Given the description of an element on the screen output the (x, y) to click on. 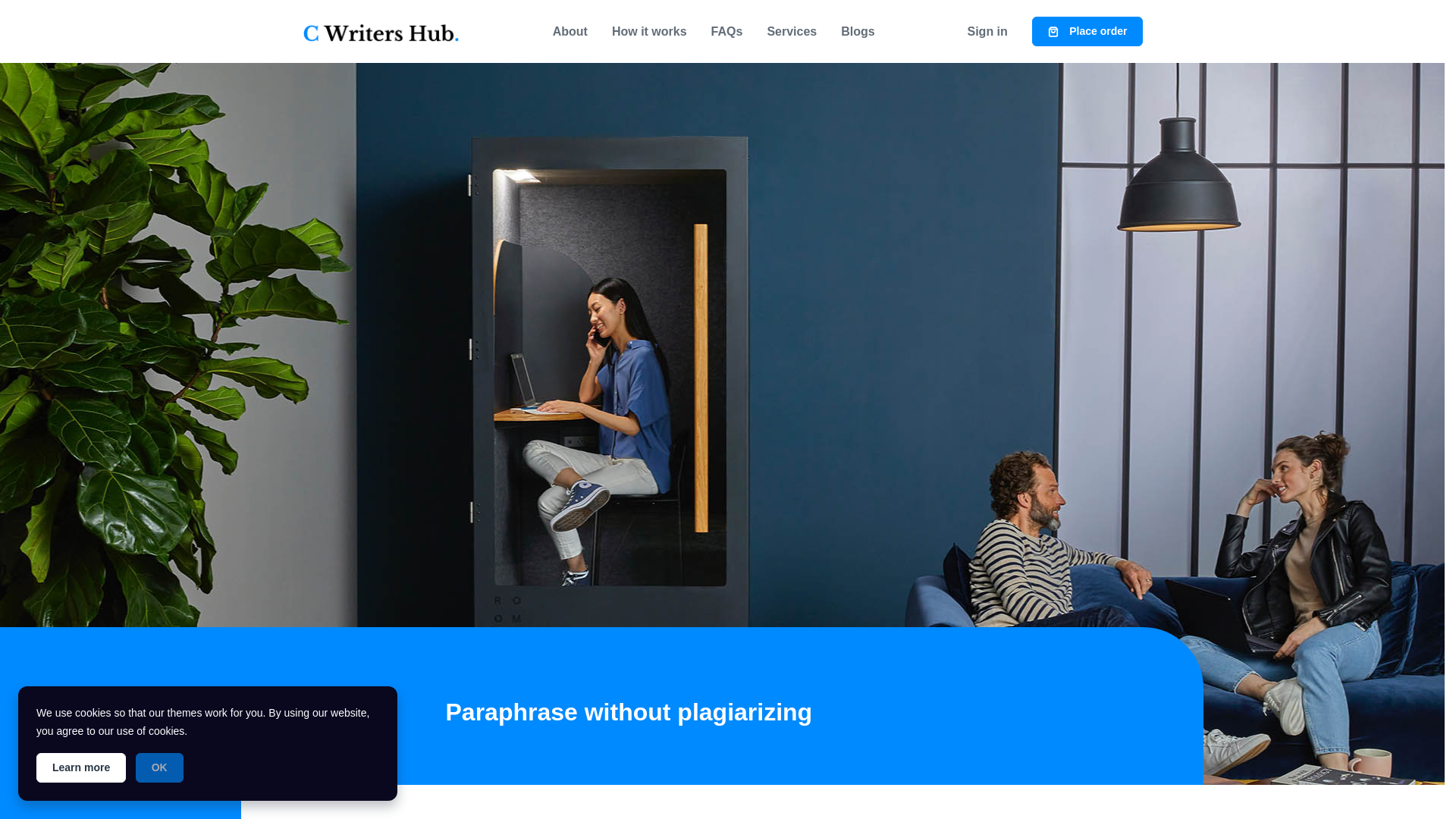
About (569, 31)
Sign in (987, 31)
Place order (1087, 30)
Learn more (80, 767)
FAQs (726, 31)
How it works (648, 31)
Services (791, 31)
OK (159, 767)
Blogs (857, 31)
